Given the description of an element on the screen output the (x, y) to click on. 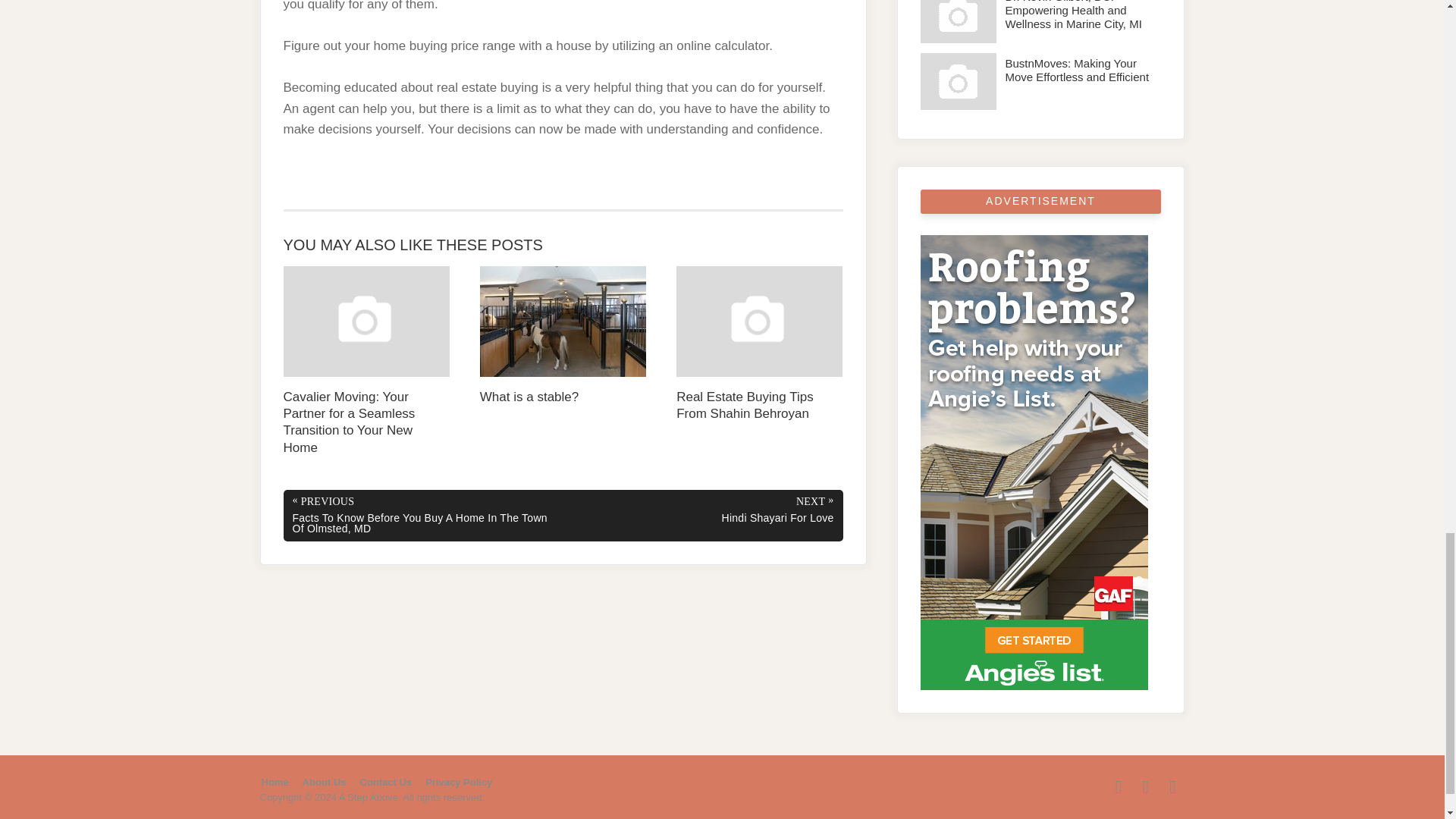
Real Estate Buying Tips From Shahin Behroyan (760, 344)
What is a stable? (563, 335)
Real Estate Buying Tips From Shahin Behroyan (760, 344)
What is a stable? (563, 335)
